Given the description of an element on the screen output the (x, y) to click on. 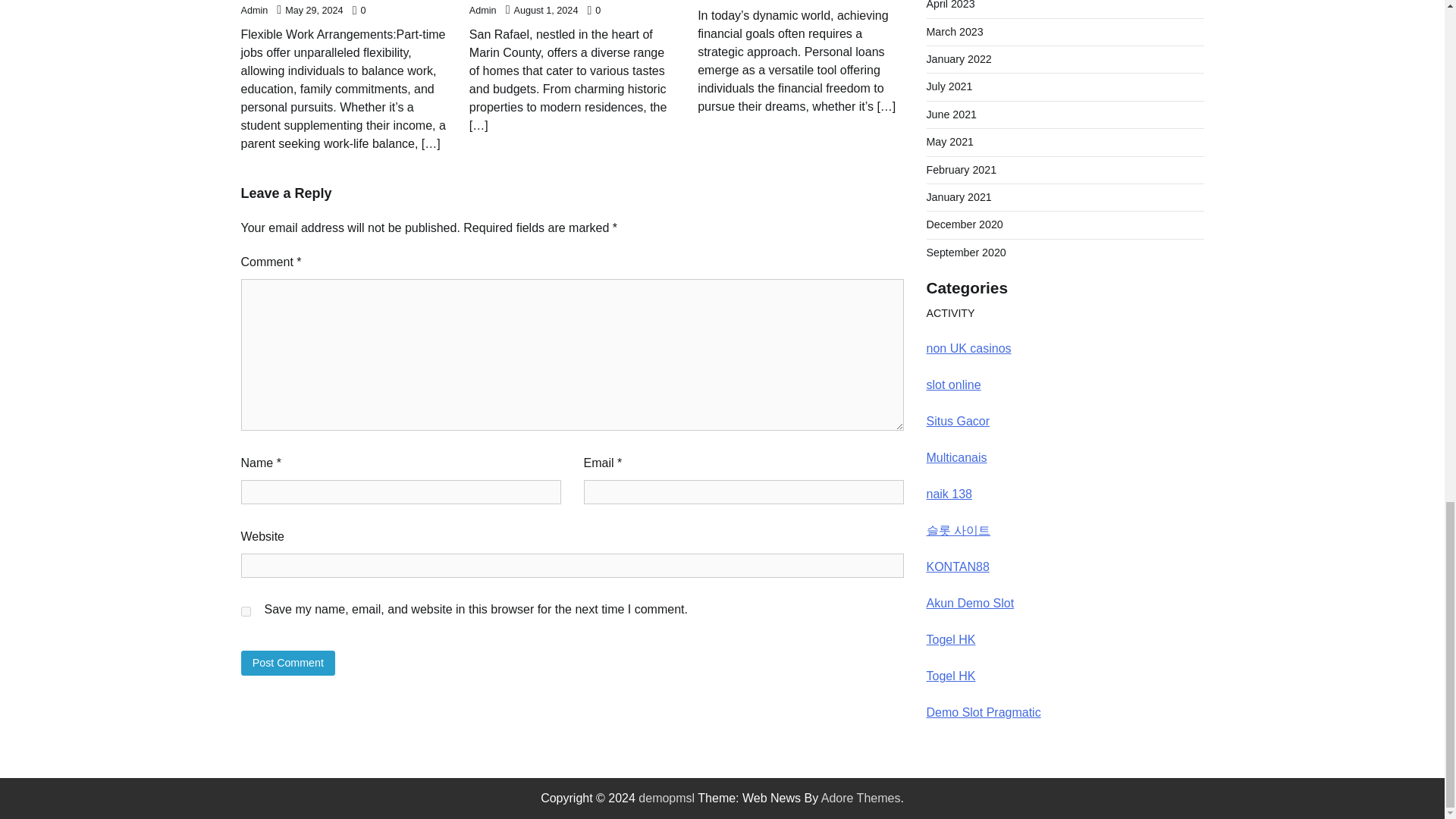
yes (245, 611)
Post Comment (288, 662)
Admin (482, 9)
Post Comment (288, 662)
Admin (254, 9)
